Given the description of an element on the screen output the (x, y) to click on. 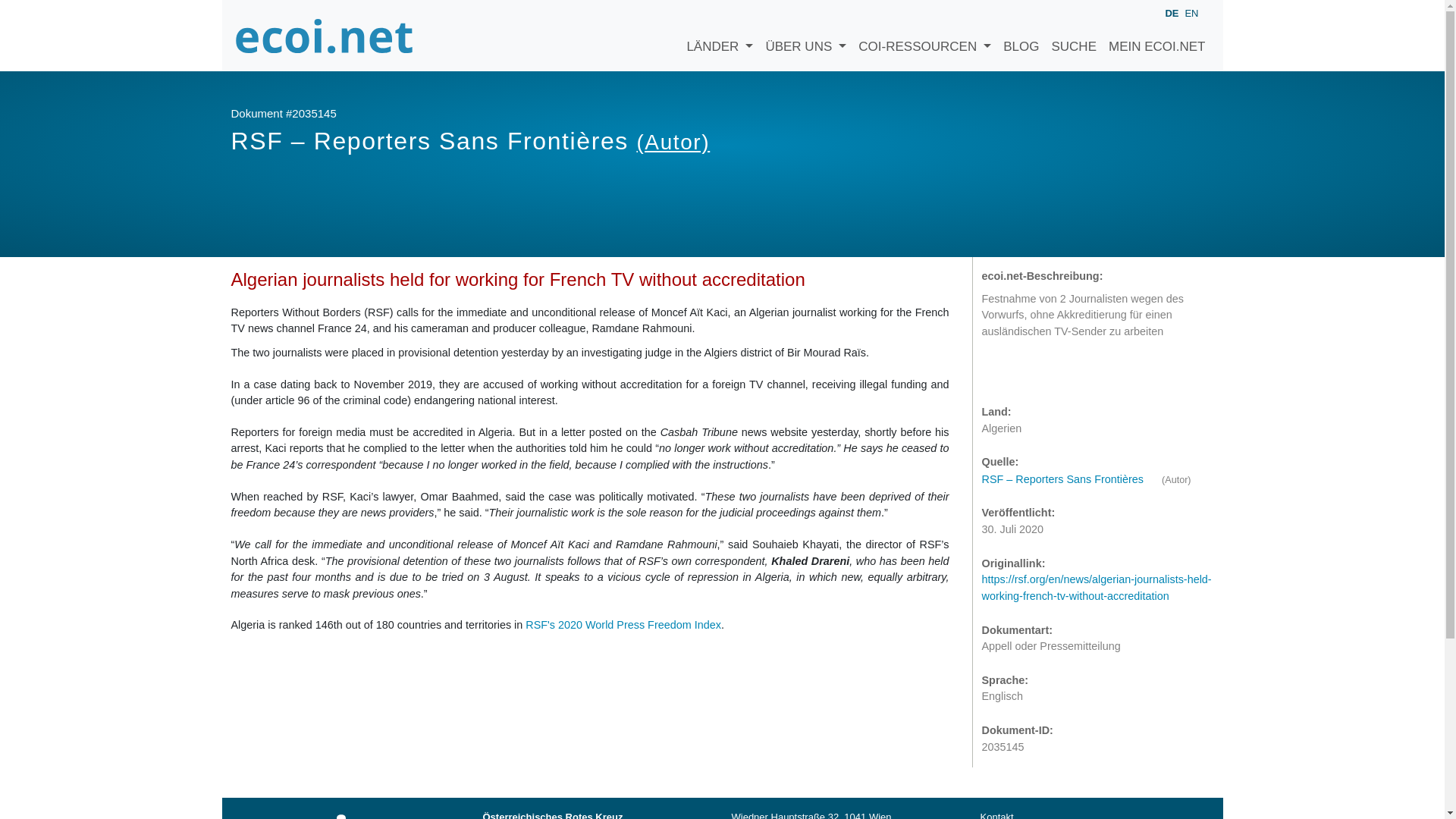
EN (1190, 12)
RSF's 2020 World Press Freedom Index (622, 624)
Zur Startseite von ecoi.net gehen (323, 35)
MEIN ECOI.NET (1156, 35)
SUCHE (1073, 35)
Deutsch (1170, 13)
Zitieren als (996, 372)
Teilen (1026, 372)
Englisch (1190, 12)
Permalink (1056, 372)
Quellenbeschreibung lesen (1069, 479)
Kontakt (996, 815)
BLOG (1021, 35)
COI-RESSOURCEN (924, 35)
